Given the description of an element on the screen output the (x, y) to click on. 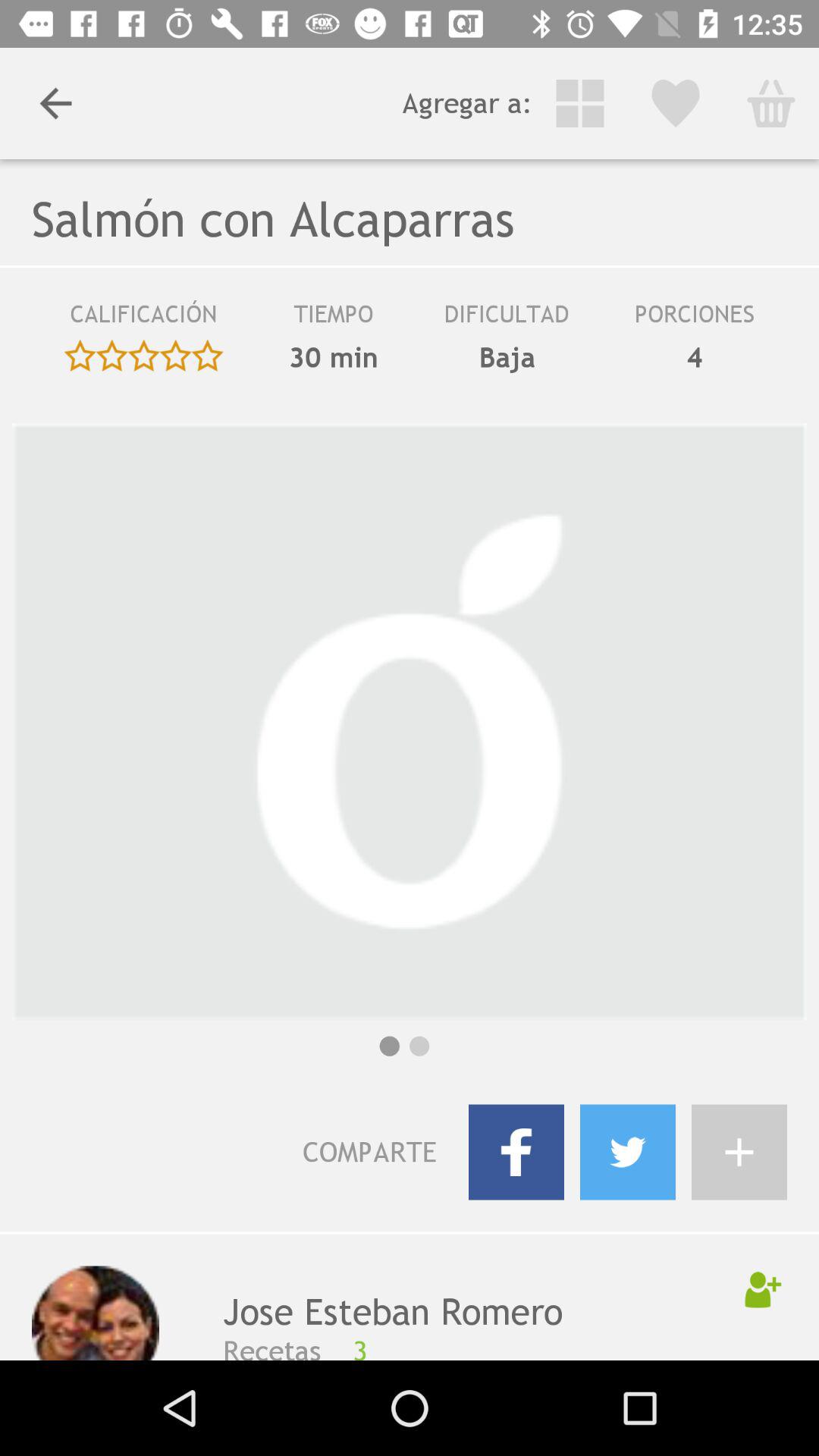
add user (763, 1289)
